Given the description of an element on the screen output the (x, y) to click on. 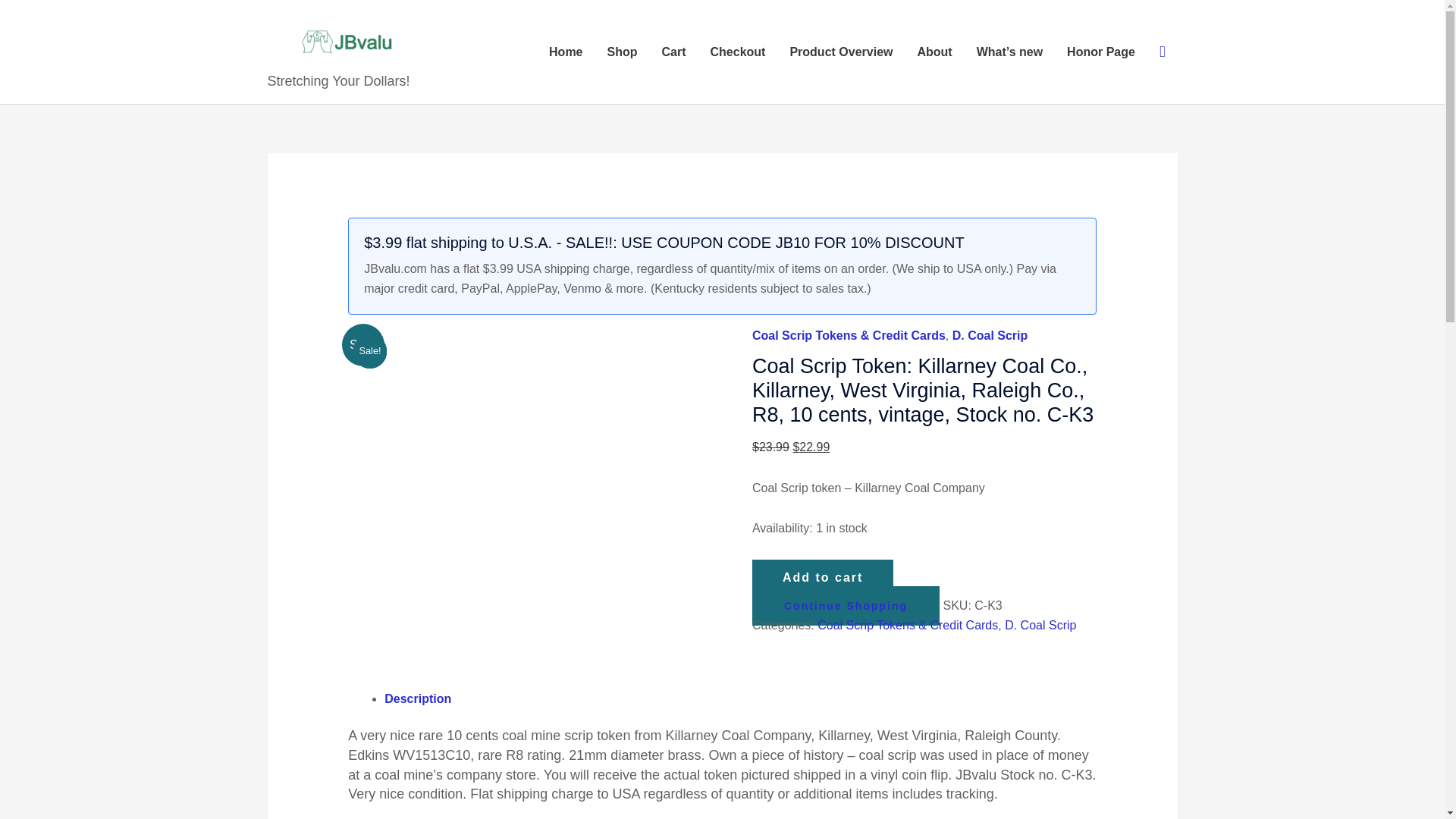
Shop (621, 51)
Description (417, 698)
Product Overview (840, 51)
D. Coal Scrip (1039, 625)
Home (565, 51)
Checkout (737, 51)
Continue Shopping (845, 605)
About (933, 51)
D. Coal Scrip (989, 335)
Honor Page (1100, 51)
Add to cart (822, 577)
Cart (673, 51)
